Given the description of an element on the screen output the (x, y) to click on. 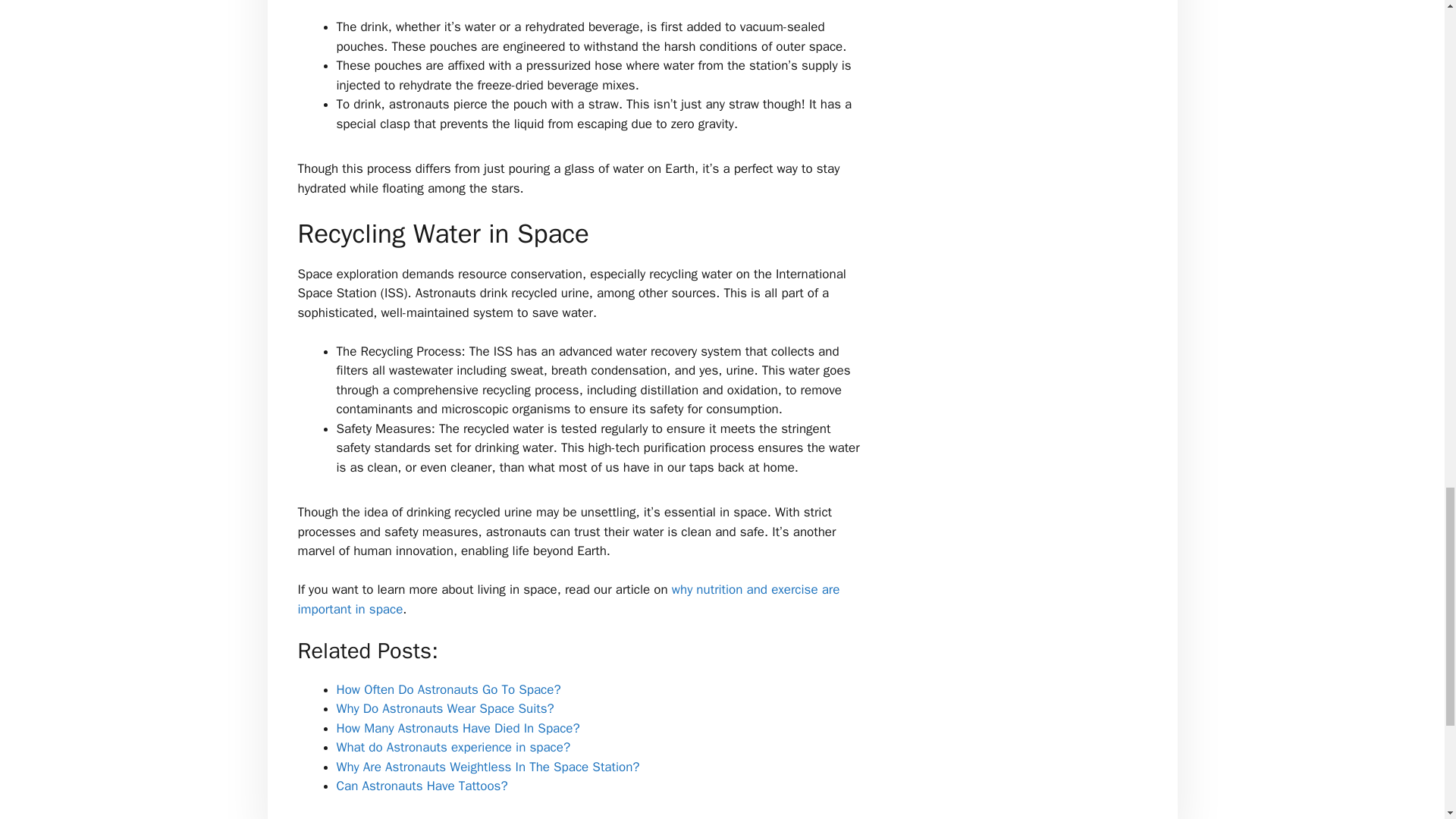
why nutrition and exercise are important in space (568, 599)
Can Astronauts Have Tattoos? (422, 785)
How Many Astronauts Have Died In Space? (457, 728)
What do Astronauts experience in space? (453, 747)
Why Do Astronauts Wear Space Suits? (445, 708)
How Often Do Astronauts Go To Space? (448, 689)
Why Are Astronauts Weightless In The Space Station? (488, 766)
